Given the description of an element on the screen output the (x, y) to click on. 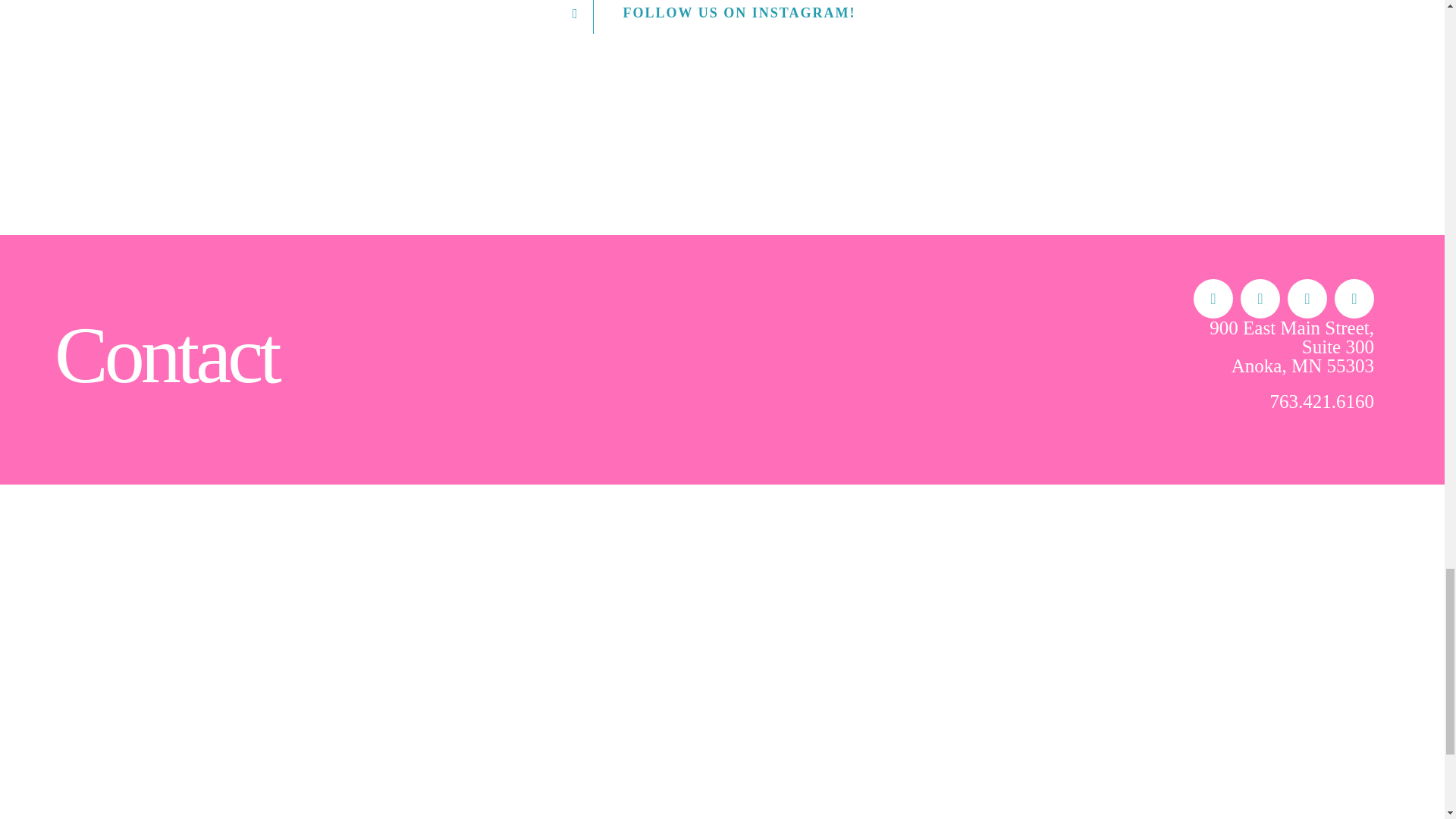
Instagram Follow (722, 17)
Instagram (1306, 298)
FOLLOW US ON INSTAGRAM! (722, 17)
Facebook (1213, 298)
Email (1354, 298)
X (1259, 298)
